Given the description of an element on the screen output the (x, y) to click on. 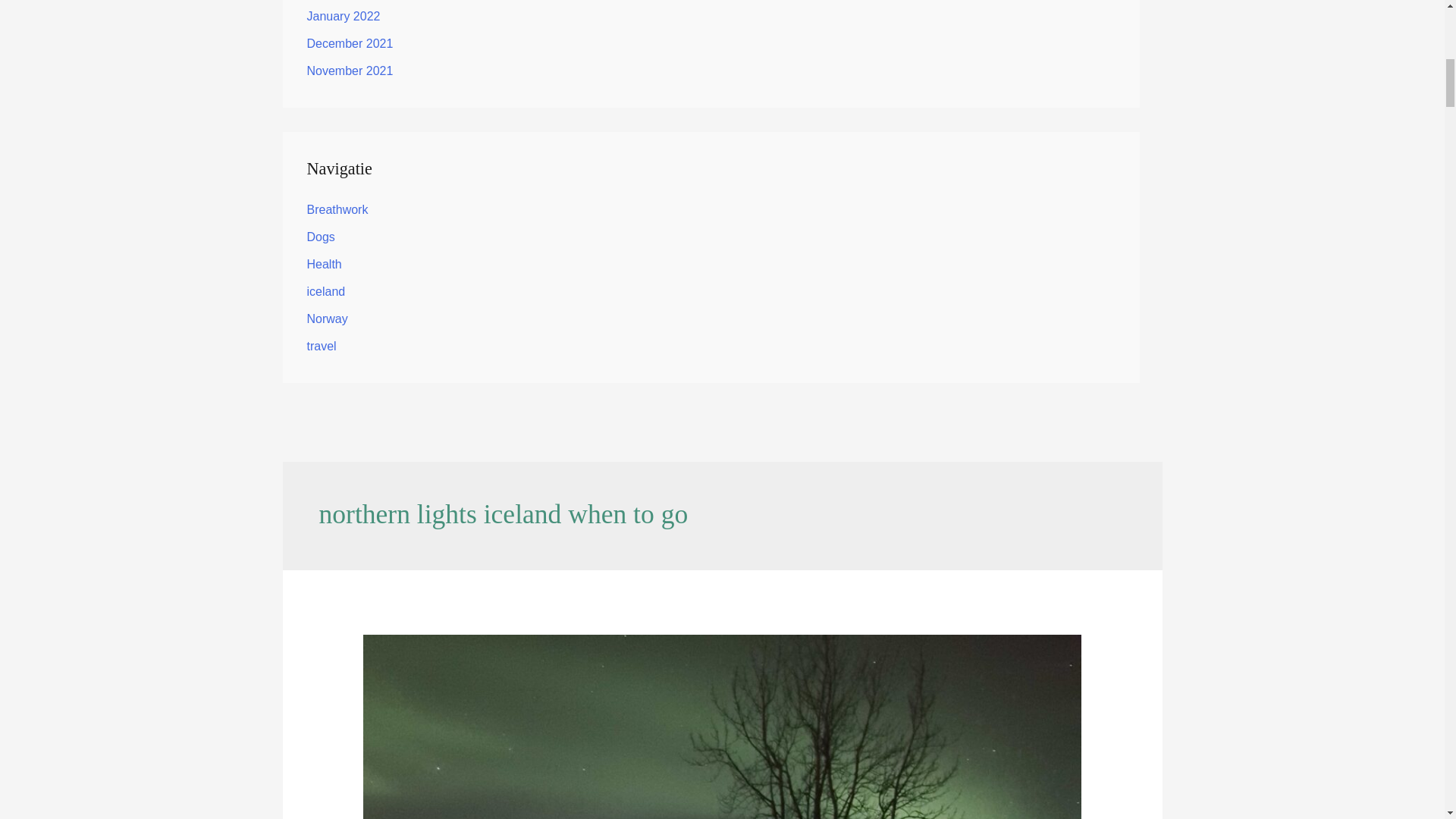
Norway (326, 318)
Dogs (319, 236)
December 2021 (349, 42)
Breathwork (336, 209)
Health (322, 264)
iceland (325, 291)
travel (320, 345)
November 2021 (349, 70)
January 2022 (342, 15)
